Given the description of an element on the screen output the (x, y) to click on. 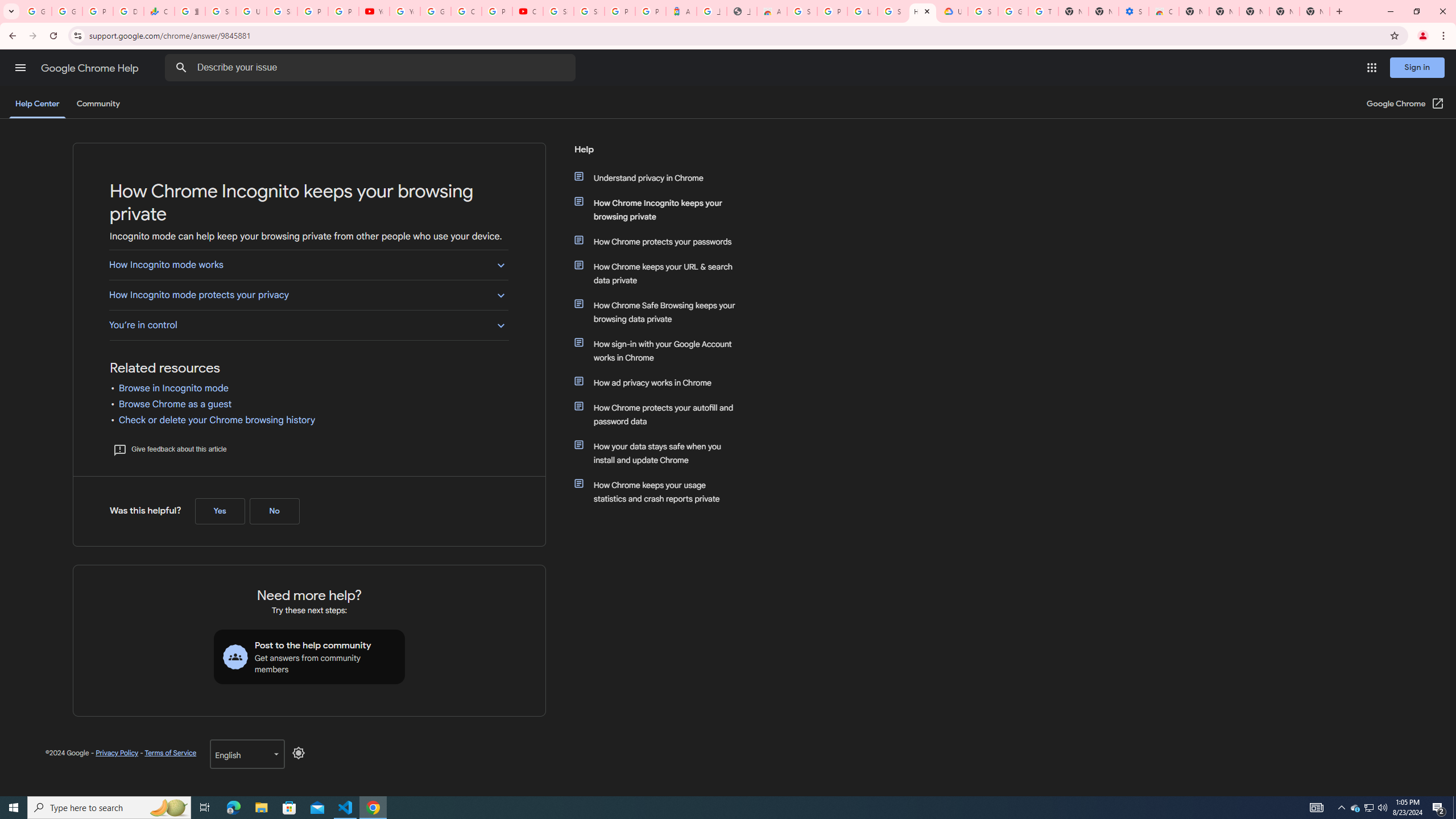
YouTube (373, 11)
Awesome Screen Recorder & Screenshot - Chrome Web Store (771, 11)
Currencies - Google Finance (158, 11)
Sign in - Google Accounts (892, 11)
New Tab (1314, 11)
Chrome Web Store - Accessibility extensions (1163, 11)
Understand privacy in Chrome (661, 177)
How Incognito mode protects your privacy (308, 294)
